Given the description of an element on the screen output the (x, y) to click on. 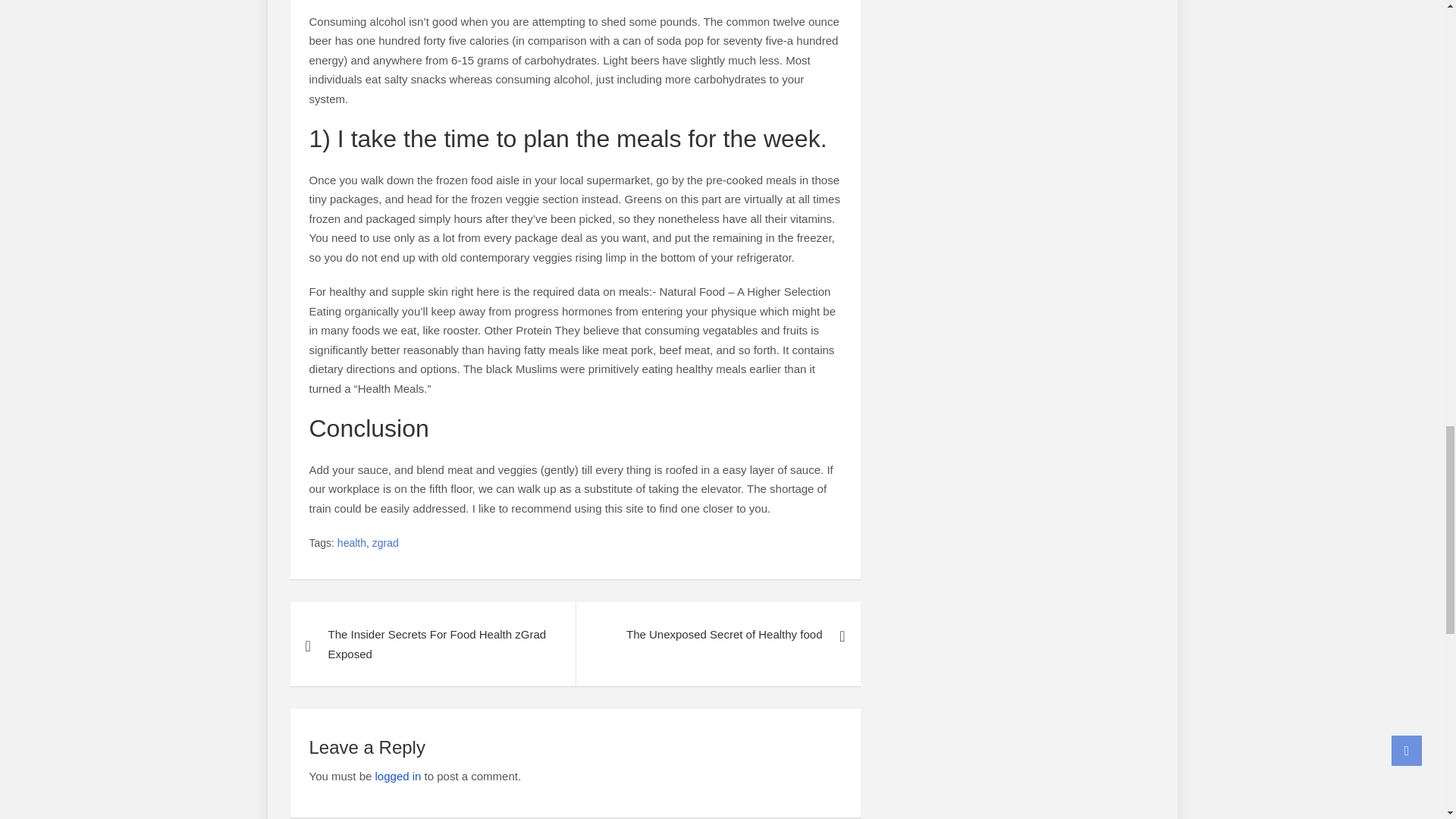
zgrad (385, 543)
logged in (398, 775)
The Insider Secrets For Food Health zGrad Exposed (432, 643)
The Unexposed Secret of Healthy food (717, 634)
health (351, 543)
